Given the description of an element on the screen output the (x, y) to click on. 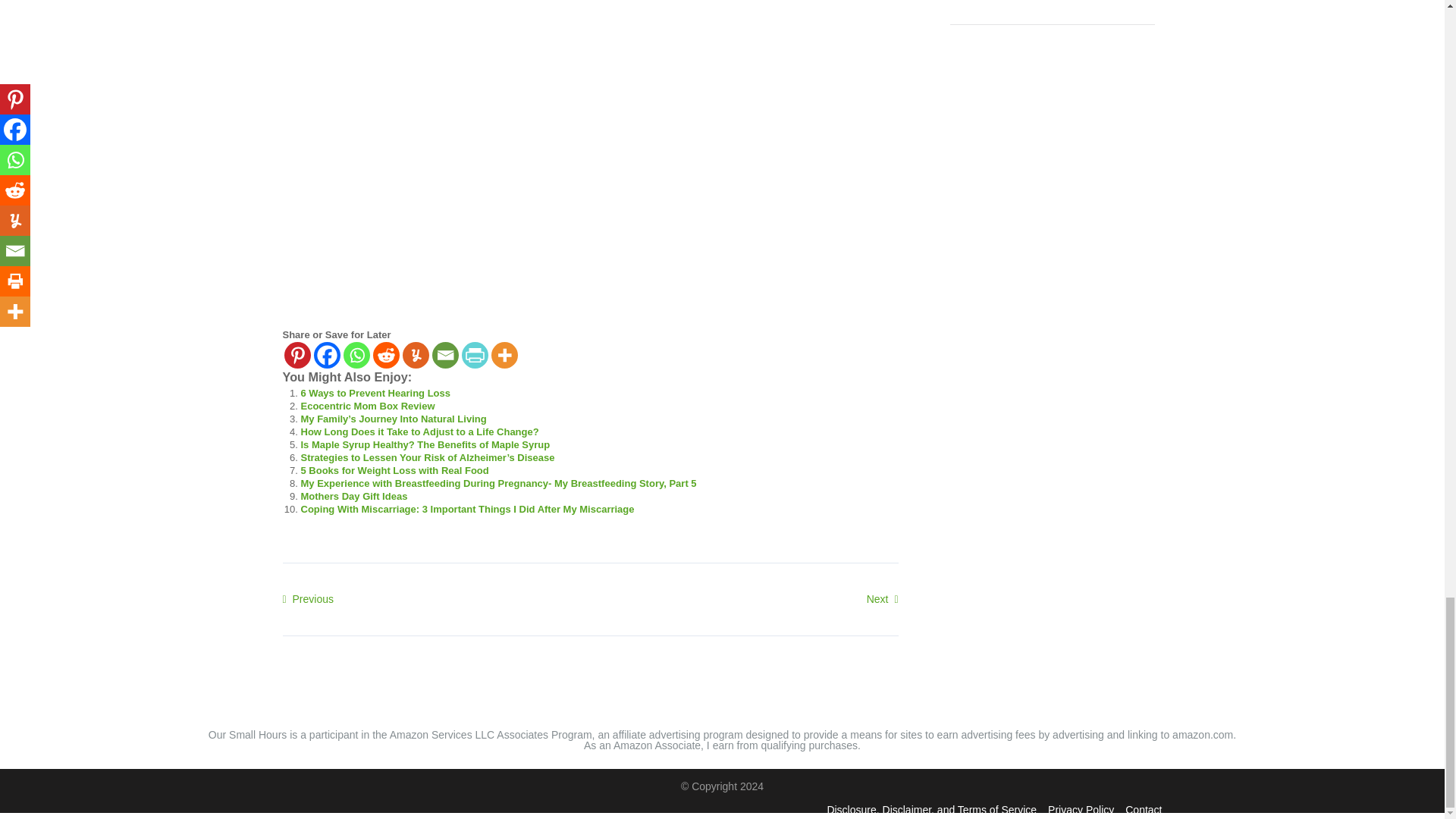
Pinterest (296, 355)
Whatsapp (355, 355)
Facebook (327, 355)
